Given the description of an element on the screen output the (x, y) to click on. 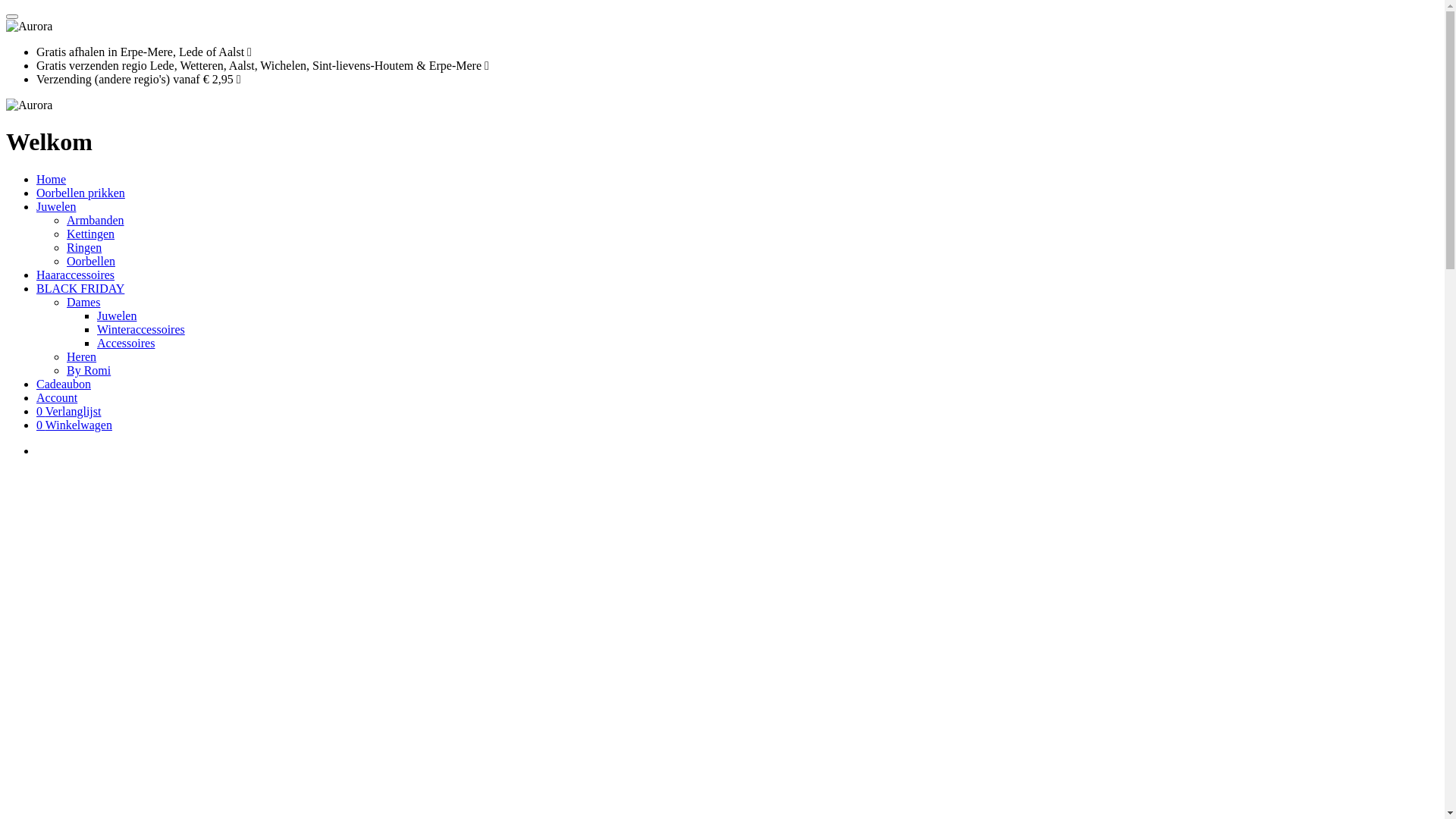
Armbanden Element type: text (95, 219)
BLACK FRIDAY Element type: text (80, 288)
By Romi Element type: text (88, 370)
Oorbellen Element type: text (90, 260)
Heren Element type: text (81, 356)
Accessoires Element type: text (125, 342)
Account Element type: text (56, 397)
Aurora Element type: hover (29, 105)
Home Element type: text (50, 178)
Juwelen Element type: text (55, 206)
Ringen Element type: text (83, 247)
Cadeaubon Element type: text (63, 383)
0 Winkelwagen Element type: text (74, 424)
Juwelen Element type: text (116, 315)
Kettingen Element type: text (90, 233)
0 Verlanglijst Element type: text (68, 410)
Dames Element type: text (83, 301)
Haaraccessoires Element type: text (75, 274)
Oorbellen prikken Element type: text (80, 192)
Aurora Element type: hover (29, 26)
Winteraccessoires Element type: text (141, 329)
